Given the description of an element on the screen output the (x, y) to click on. 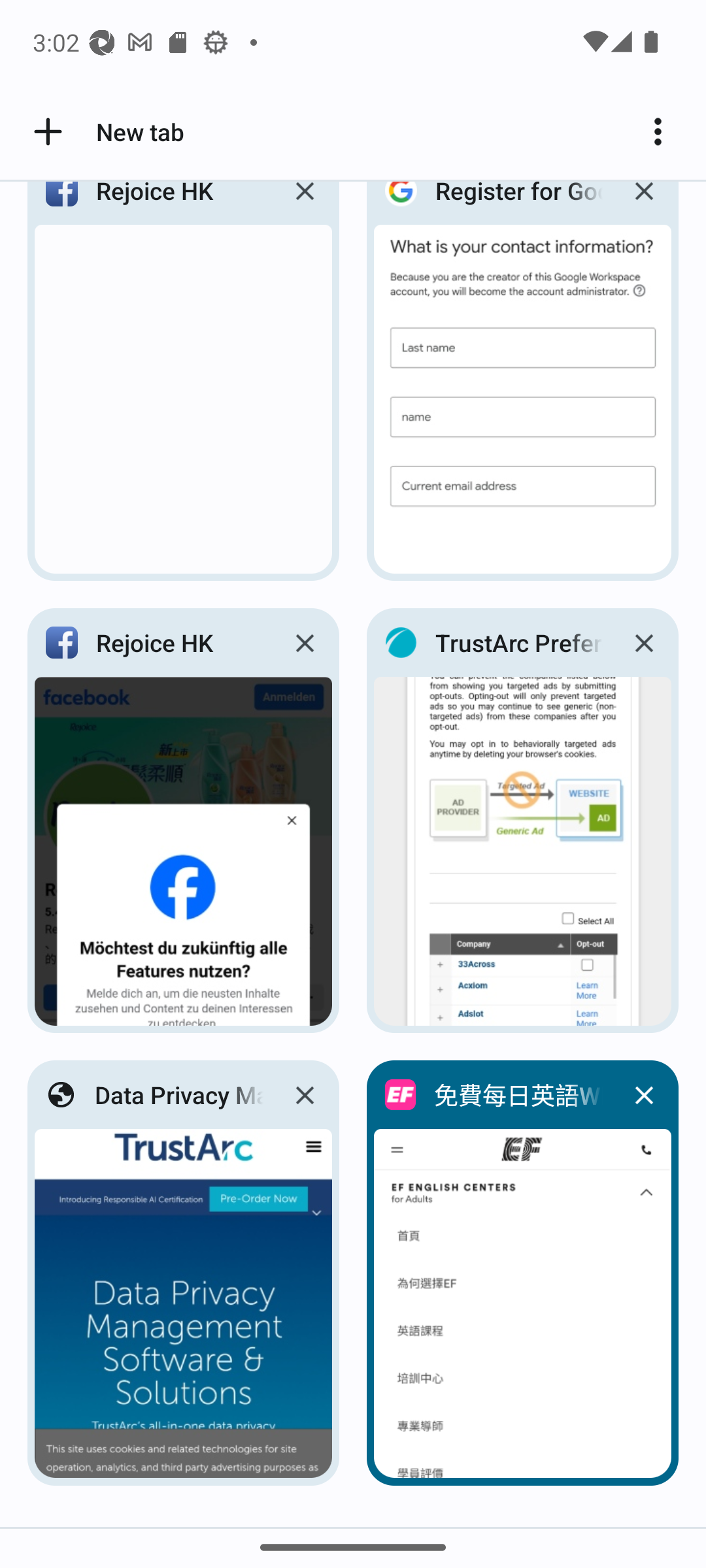
New tab (105, 131)
More options (664, 131)
Rejoice HK Rejoice HK, tab Close Rejoice HK tab (183, 387)
Close Rejoice HK tab (304, 206)
Close Register for Google Workspace tab (643, 206)
Rejoice HK Rejoice HK, tab Close Rejoice HK tab (183, 820)
Close Rejoice HK tab (304, 642)
Close TrustArc Preference Manager tab (643, 642)
Close 免費每日英語WhatsApp頻道 tab (643, 1094)
